Given the description of an element on the screen output the (x, y) to click on. 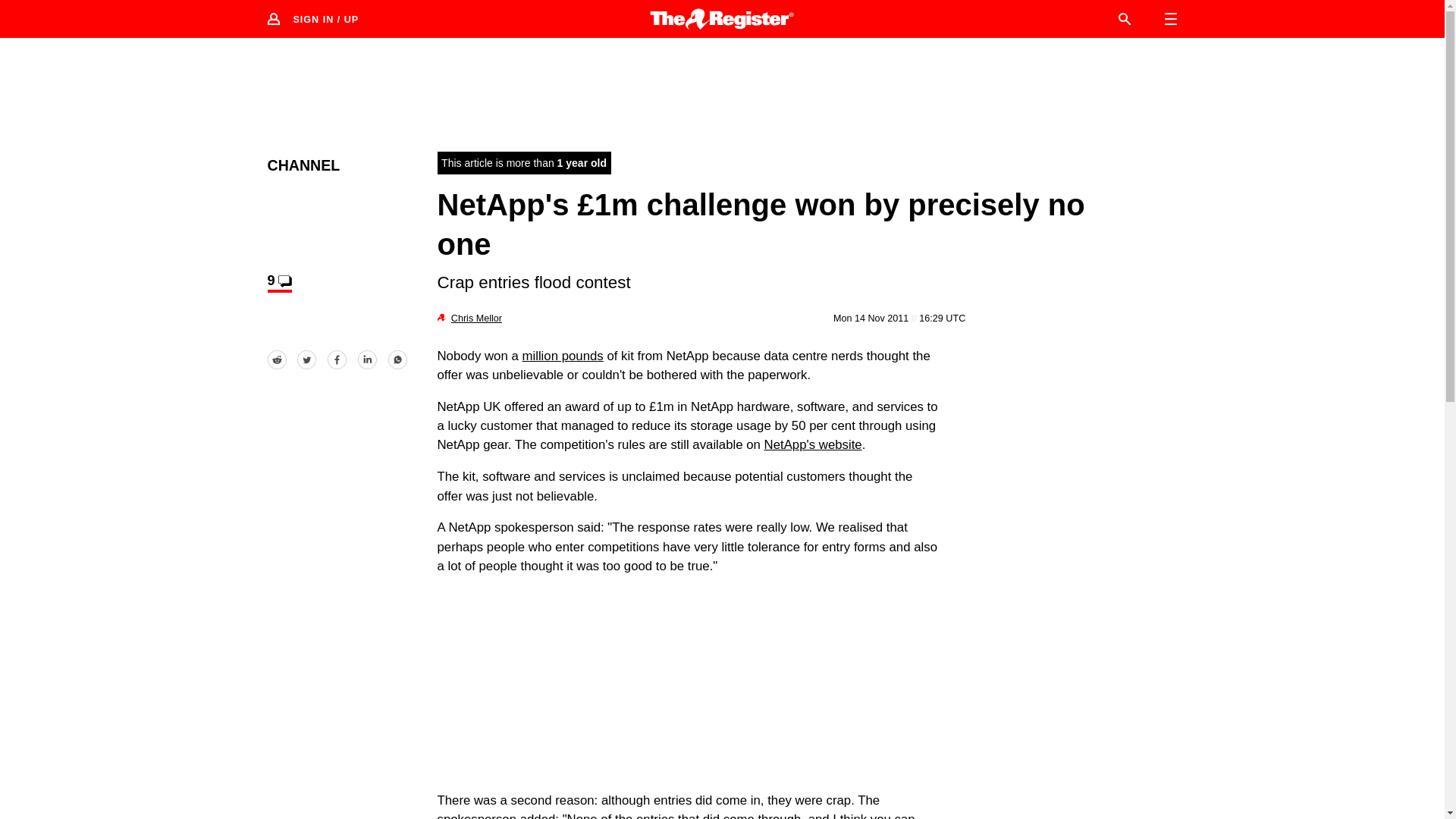
View comments on this article (278, 282)
Read more by this author (476, 318)
